Given the description of an element on the screen output the (x, y) to click on. 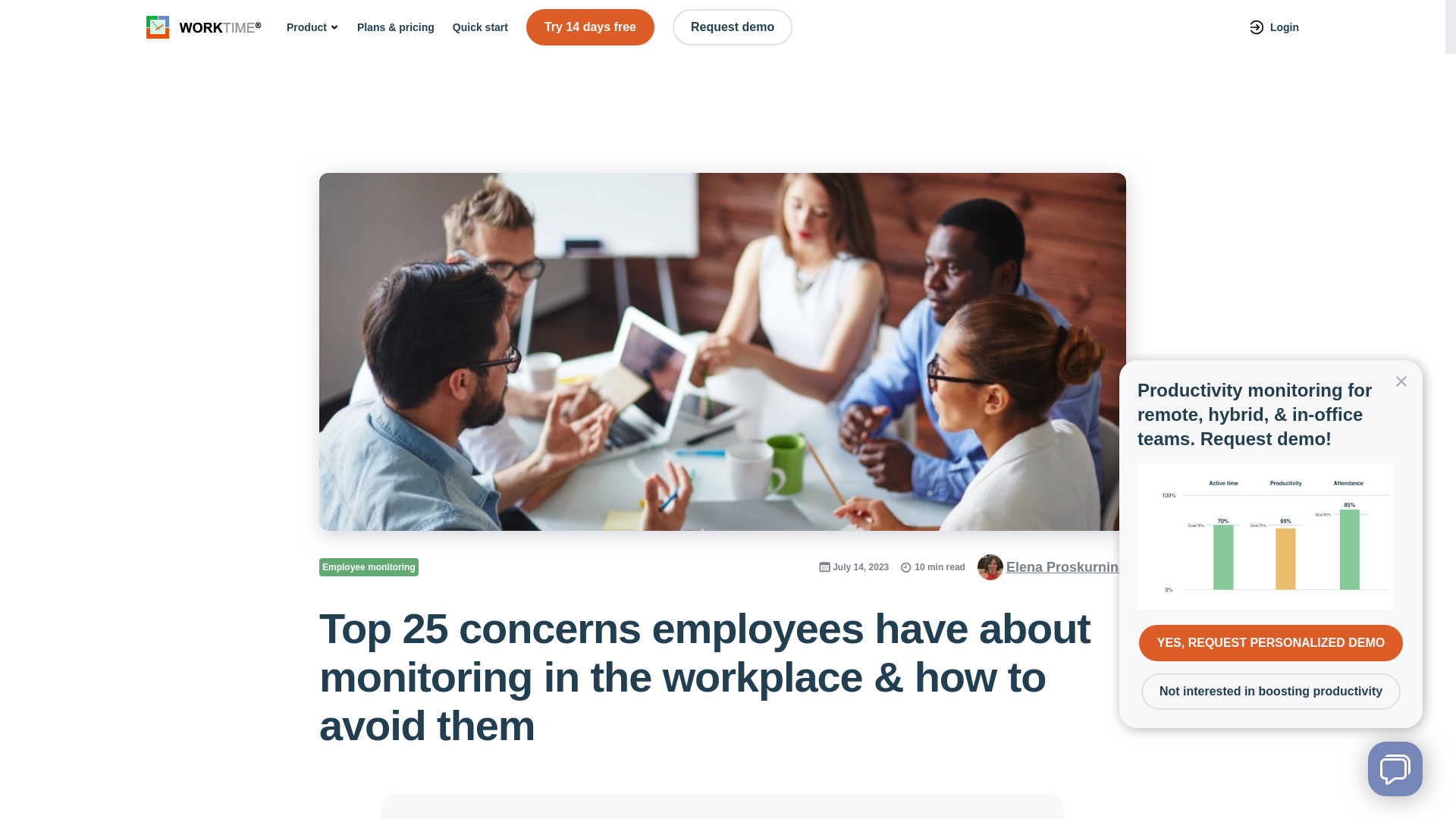
chat (1395, 769)
Product (312, 27)
